Given the description of an element on the screen output the (x, y) to click on. 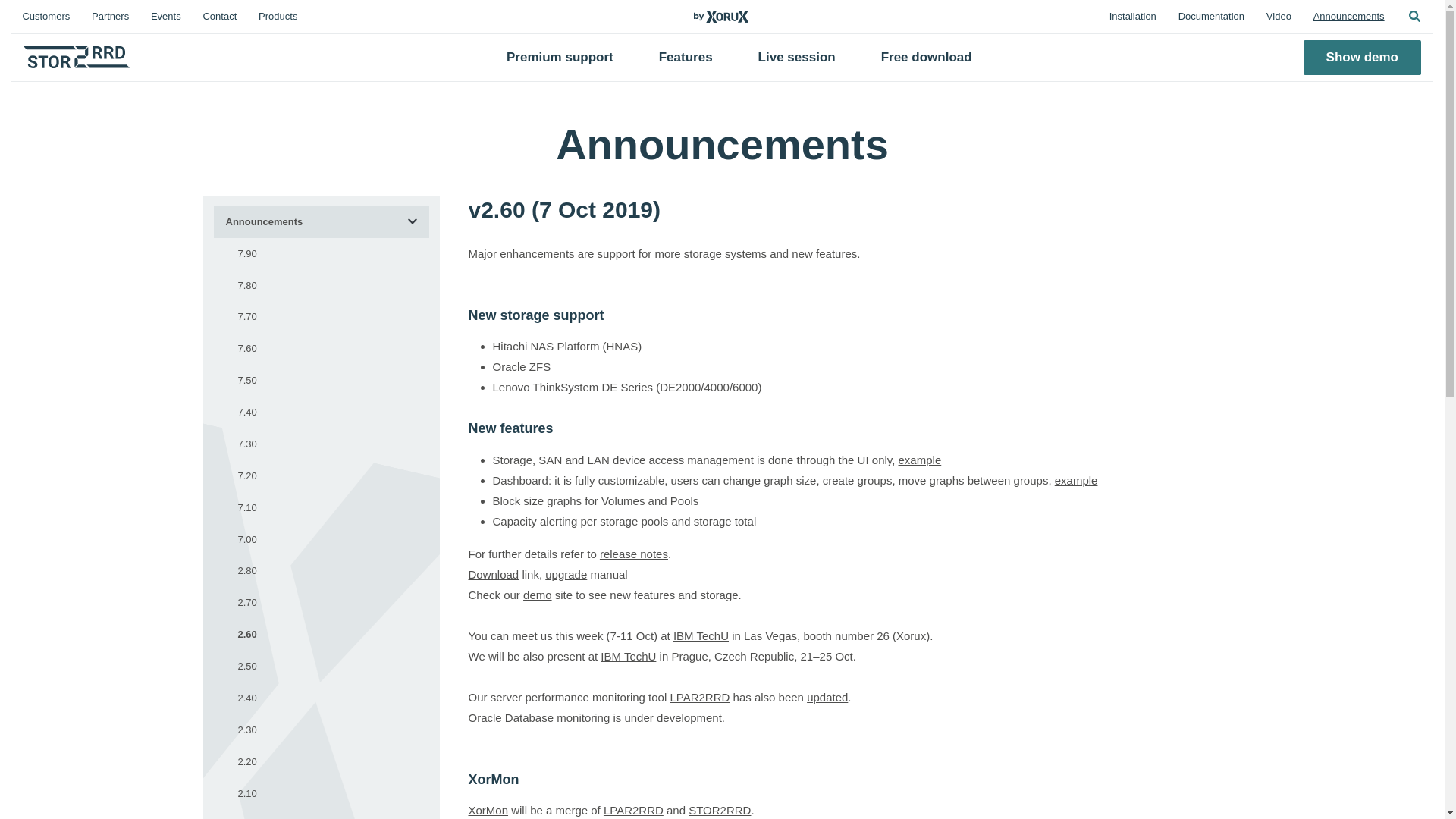
Contact (219, 16)
7.90 (327, 254)
Events (165, 16)
7.30 (327, 444)
Installation (1132, 16)
Documentation (1211, 16)
Products (277, 16)
Search (1413, 16)
7.40 (327, 412)
Customers (46, 16)
Free download (926, 57)
7.50 (327, 380)
Announcements (1347, 16)
Partners (110, 16)
7.60 (327, 348)
